Given the description of an element on the screen output the (x, y) to click on. 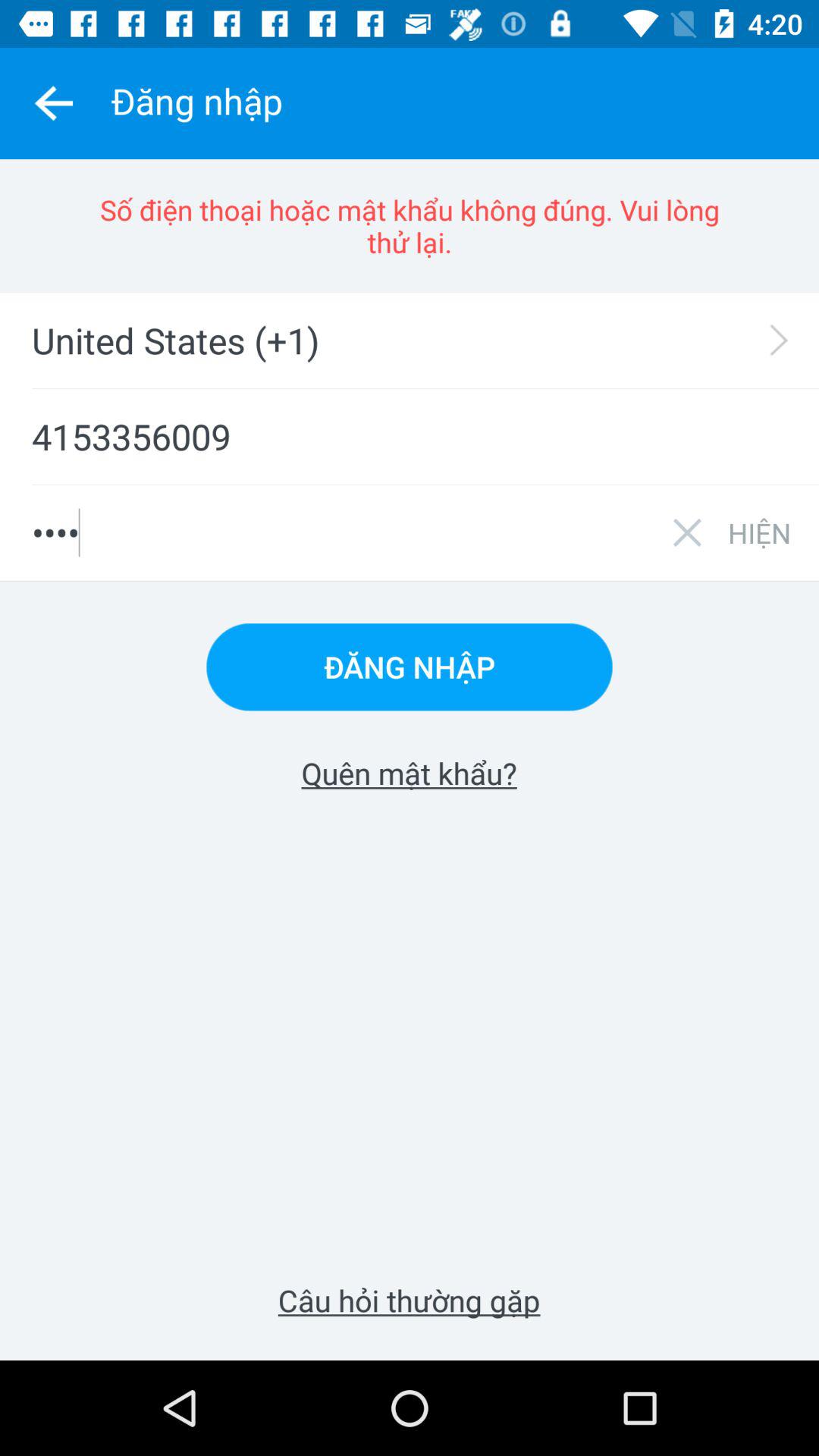
turn off icon to the right of the 2112 icon (759, 532)
